Given the description of an element on the screen output the (x, y) to click on. 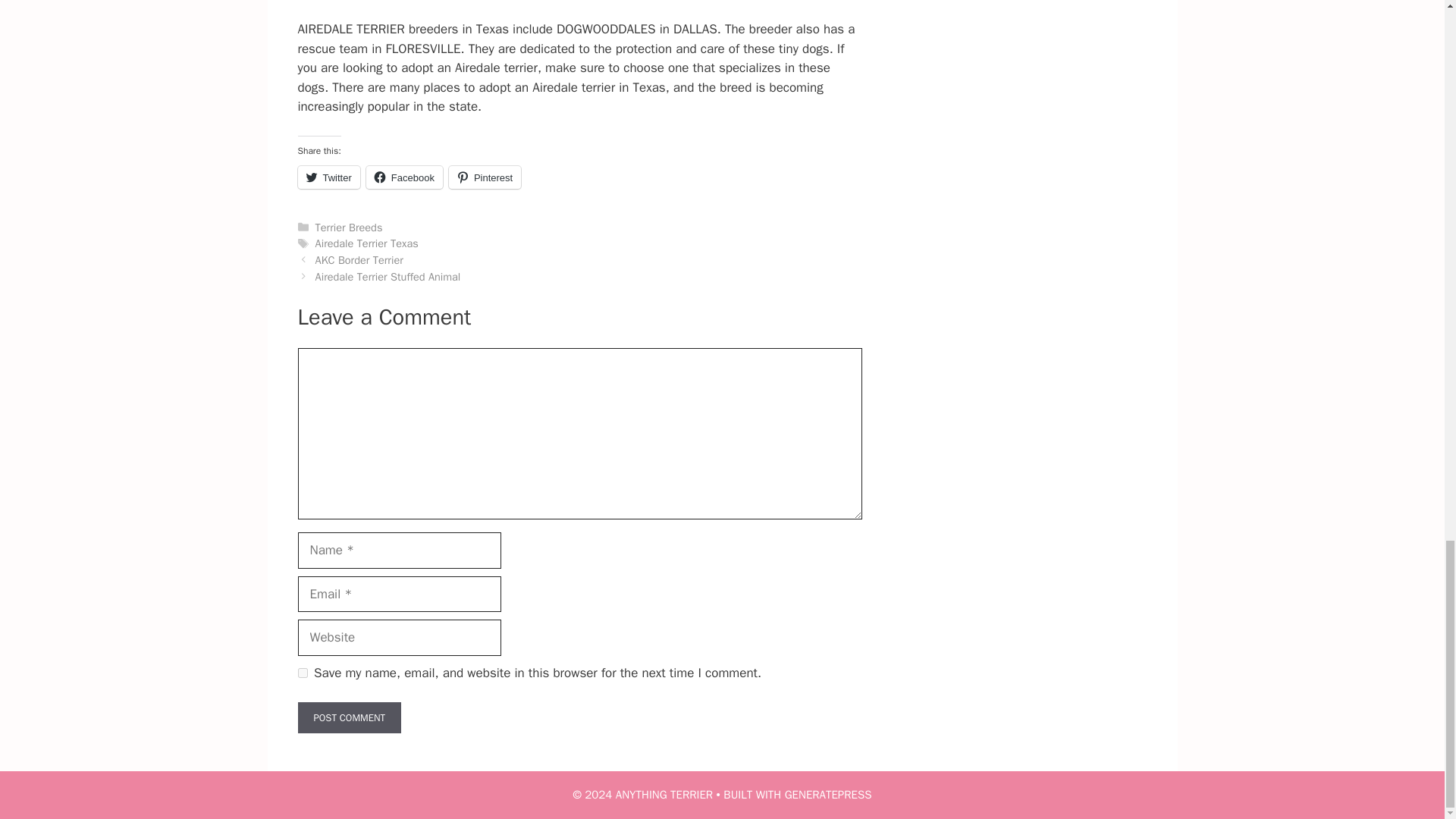
Post Comment (349, 717)
Click to share on Facebook (404, 177)
Click to share on Pinterest (484, 177)
AKC Border Terrier (359, 259)
Facebook (404, 177)
Pinterest (484, 177)
yes (302, 673)
Twitter (328, 177)
Airedale Terrier Stuffed Animal (388, 276)
Airedale Terrier Texas (367, 243)
